Given the description of an element on the screen output the (x, y) to click on. 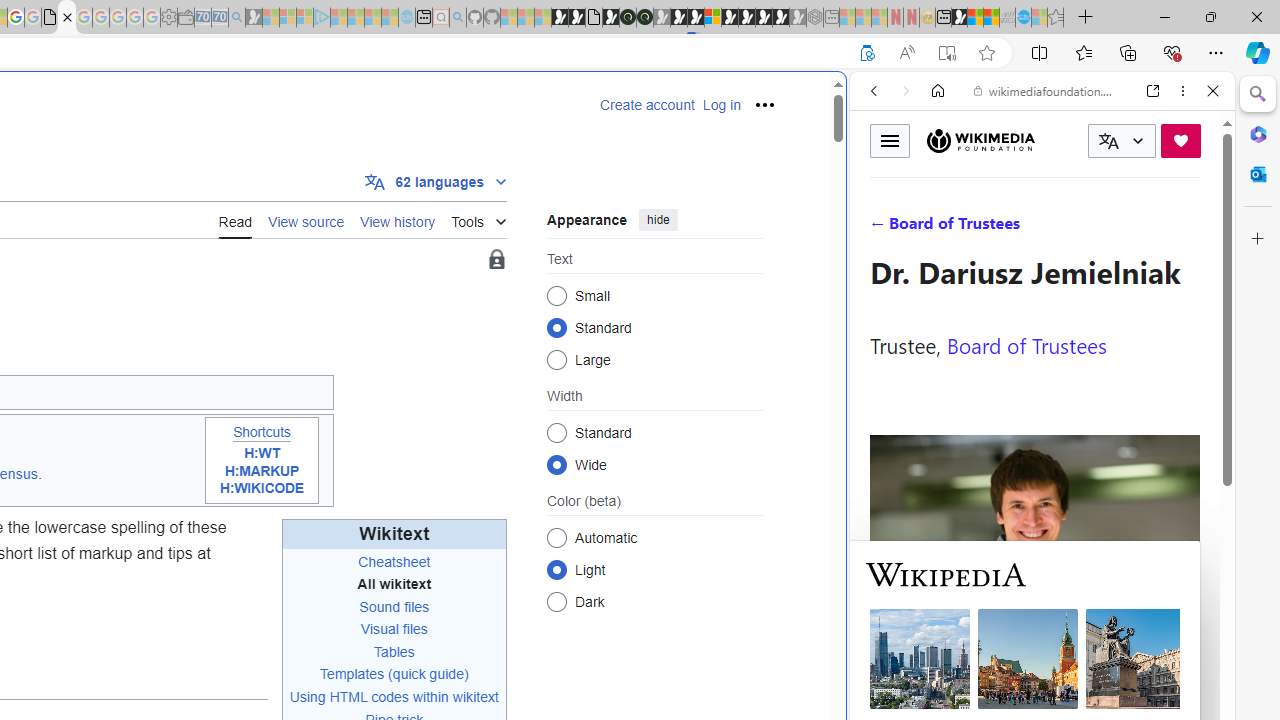
Support Wikipedia? (867, 53)
View source (306, 219)
Frequently visited (418, 265)
Templates (quick guide) (394, 674)
